Given the description of an element on the screen output the (x, y) to click on. 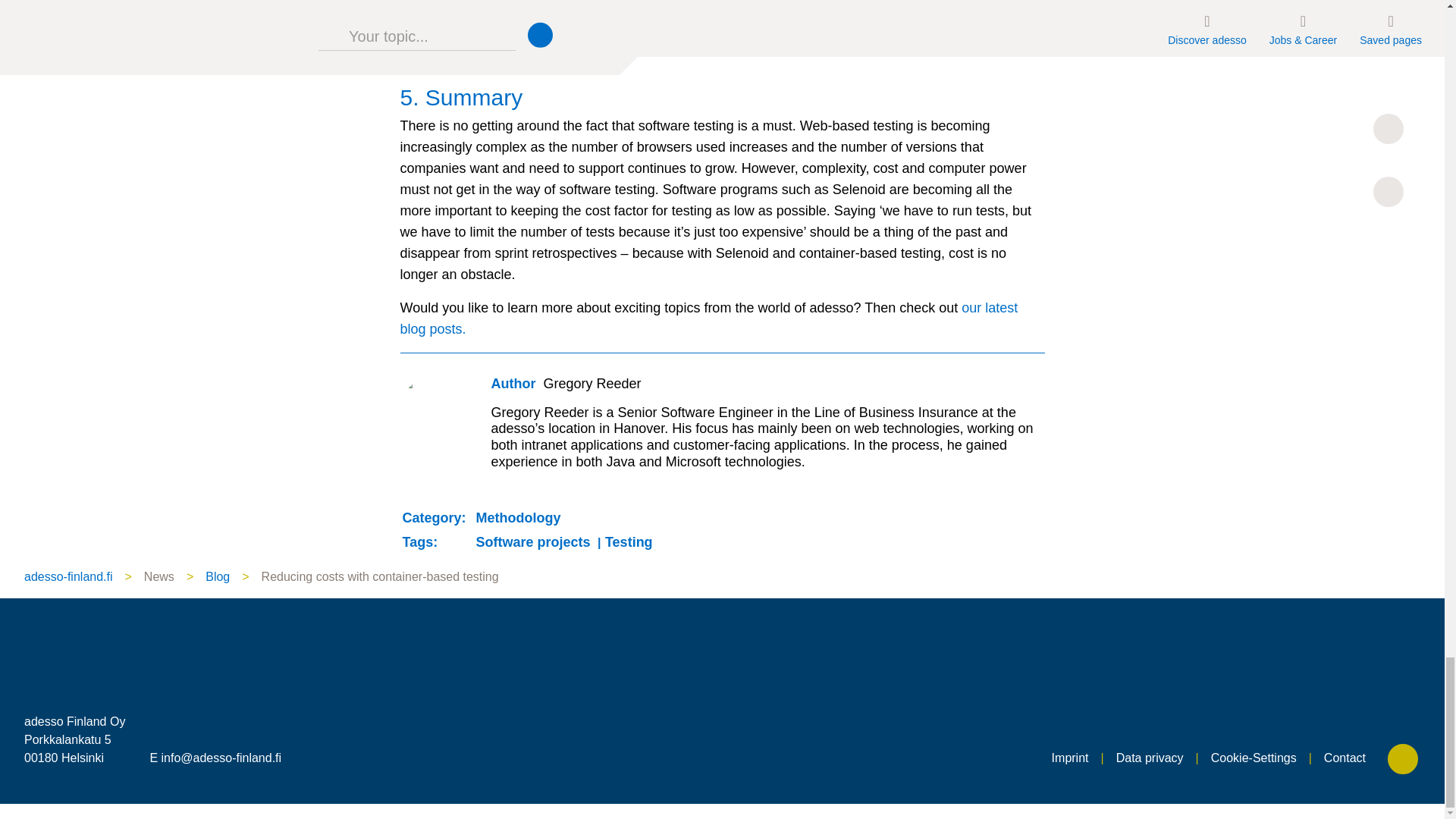
Picture Gregory  Reeder (434, 409)
